Given the description of an element on the screen output the (x, y) to click on. 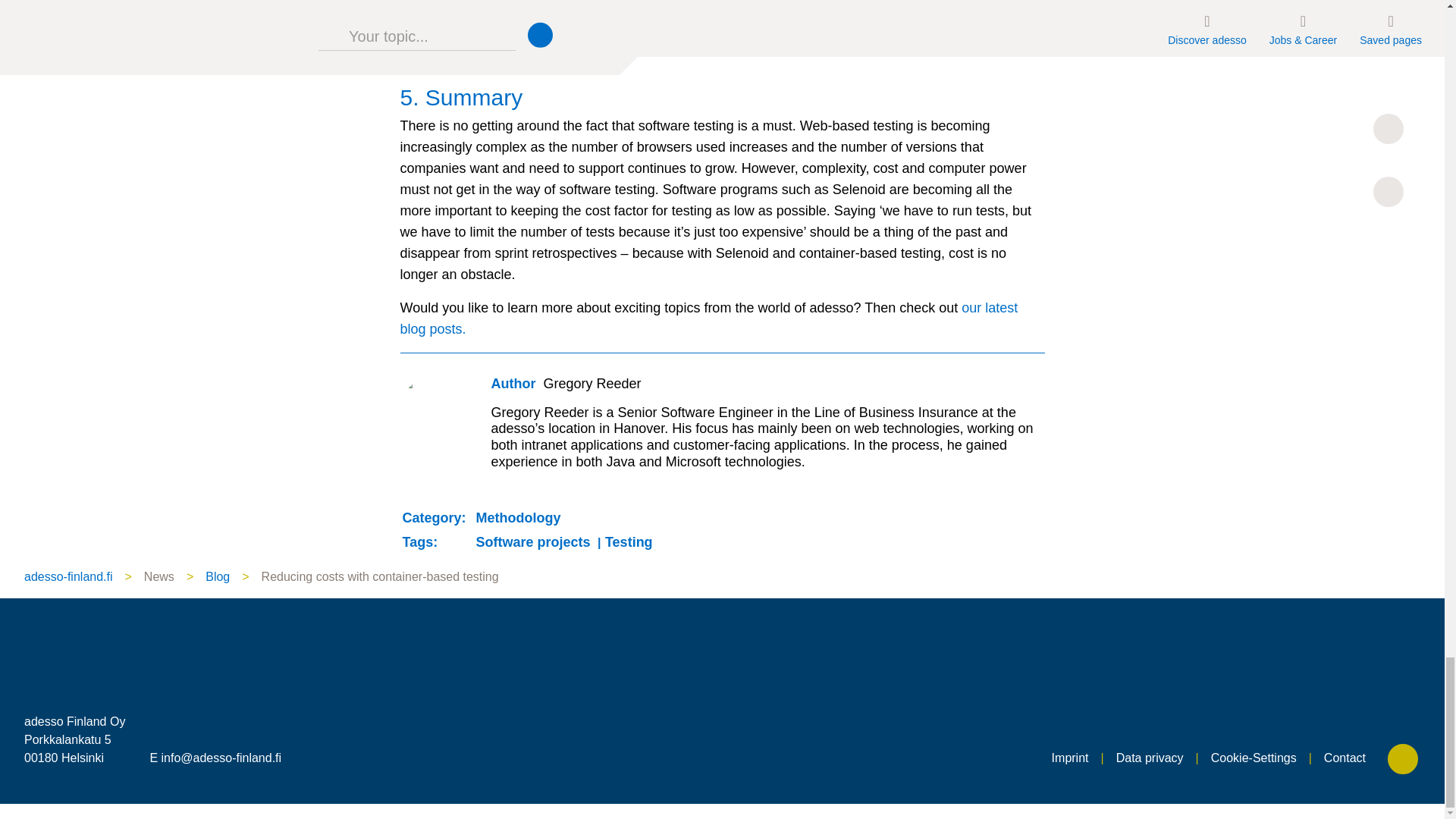
Picture Gregory  Reeder (434, 409)
